Given the description of an element on the screen output the (x, y) to click on. 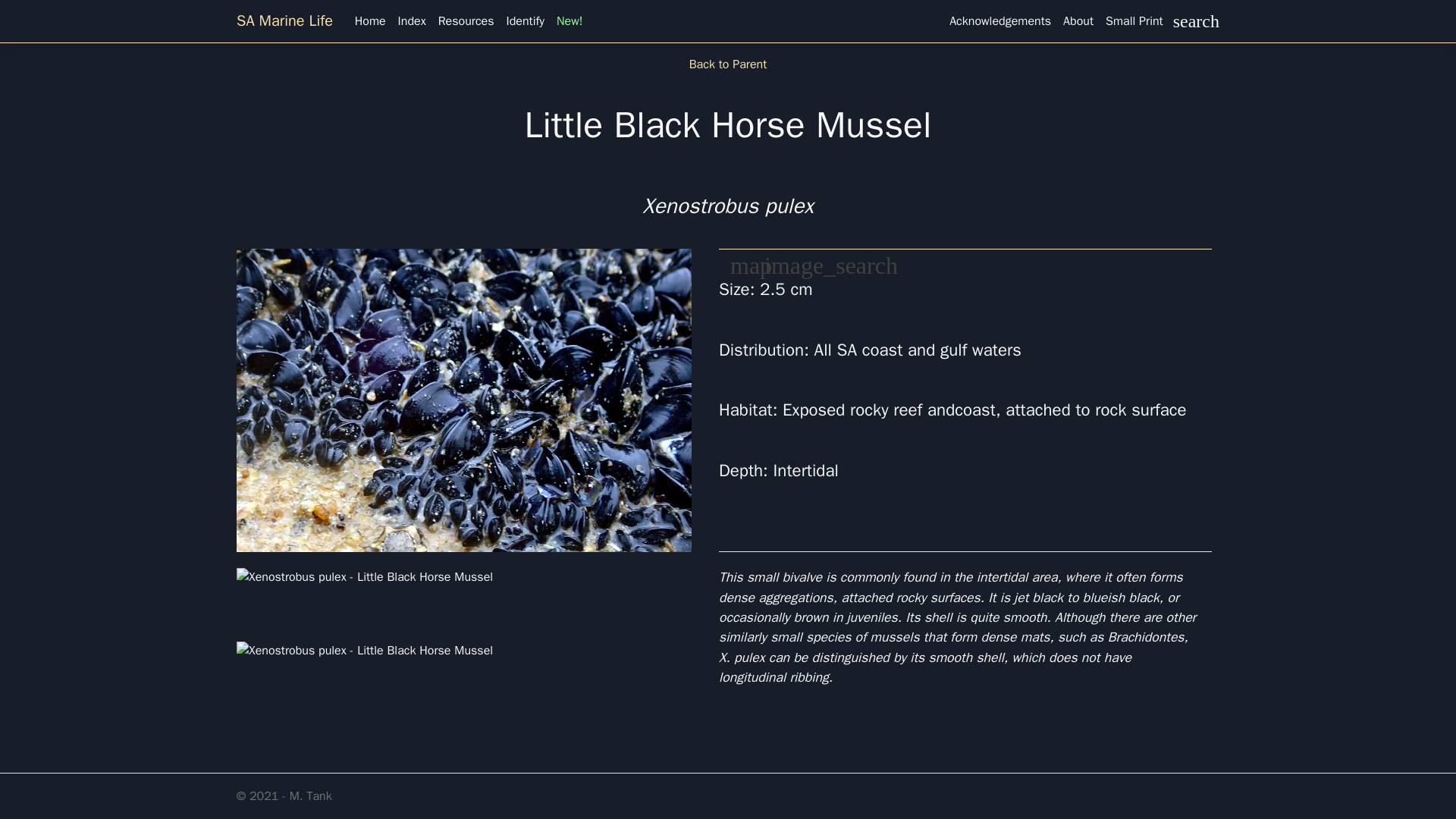
Small Print (1134, 20)
Identify (524, 20)
SA Marine Life (285, 20)
Index (411, 20)
About (1078, 20)
New! (569, 20)
Home (370, 20)
Resources (466, 20)
Back to Parent (727, 64)
Acknowledgements (1000, 20)
